Given the description of an element on the screen output the (x, y) to click on. 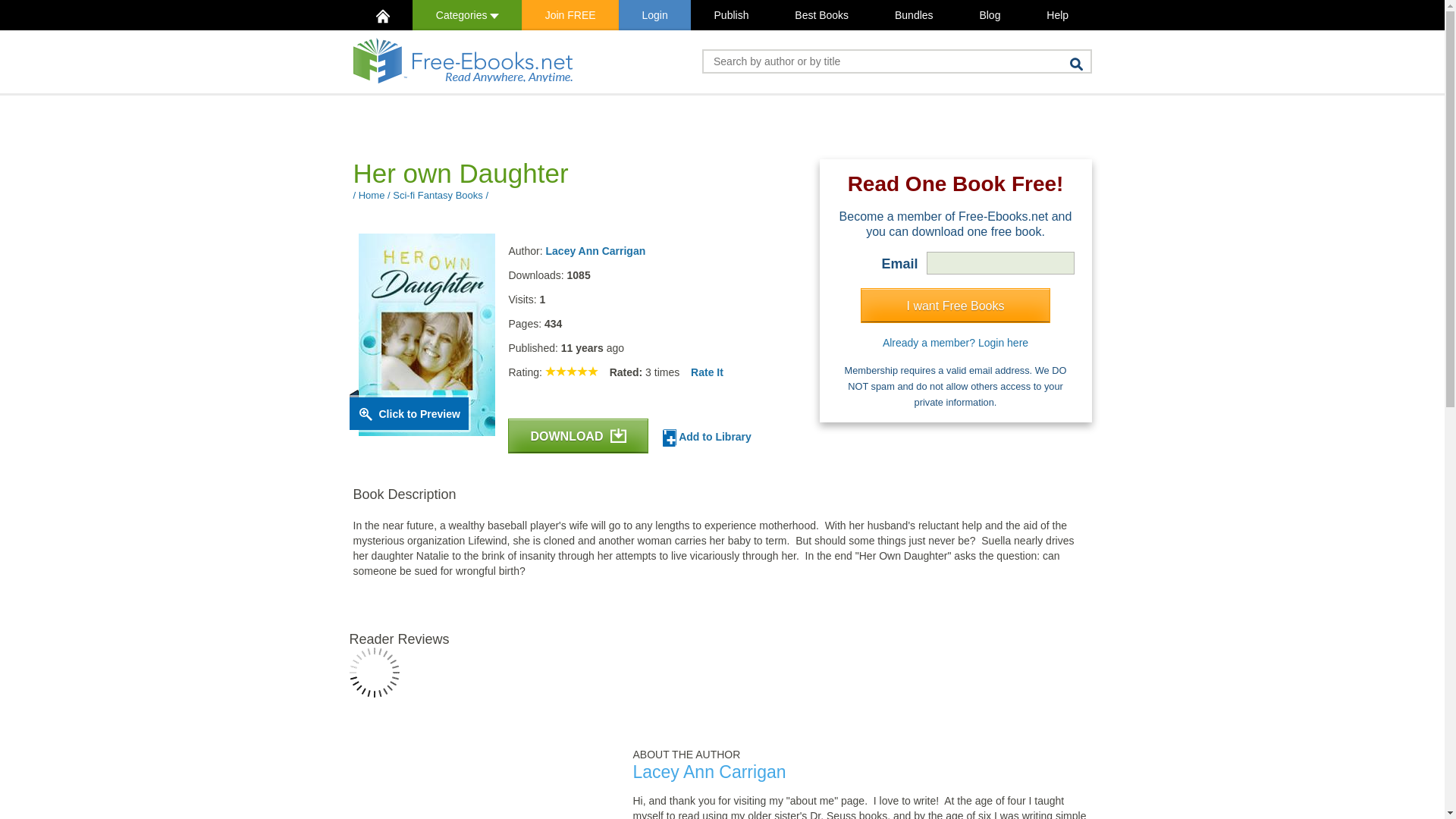
Categories (466, 15)
